Given the description of an element on the screen output the (x, y) to click on. 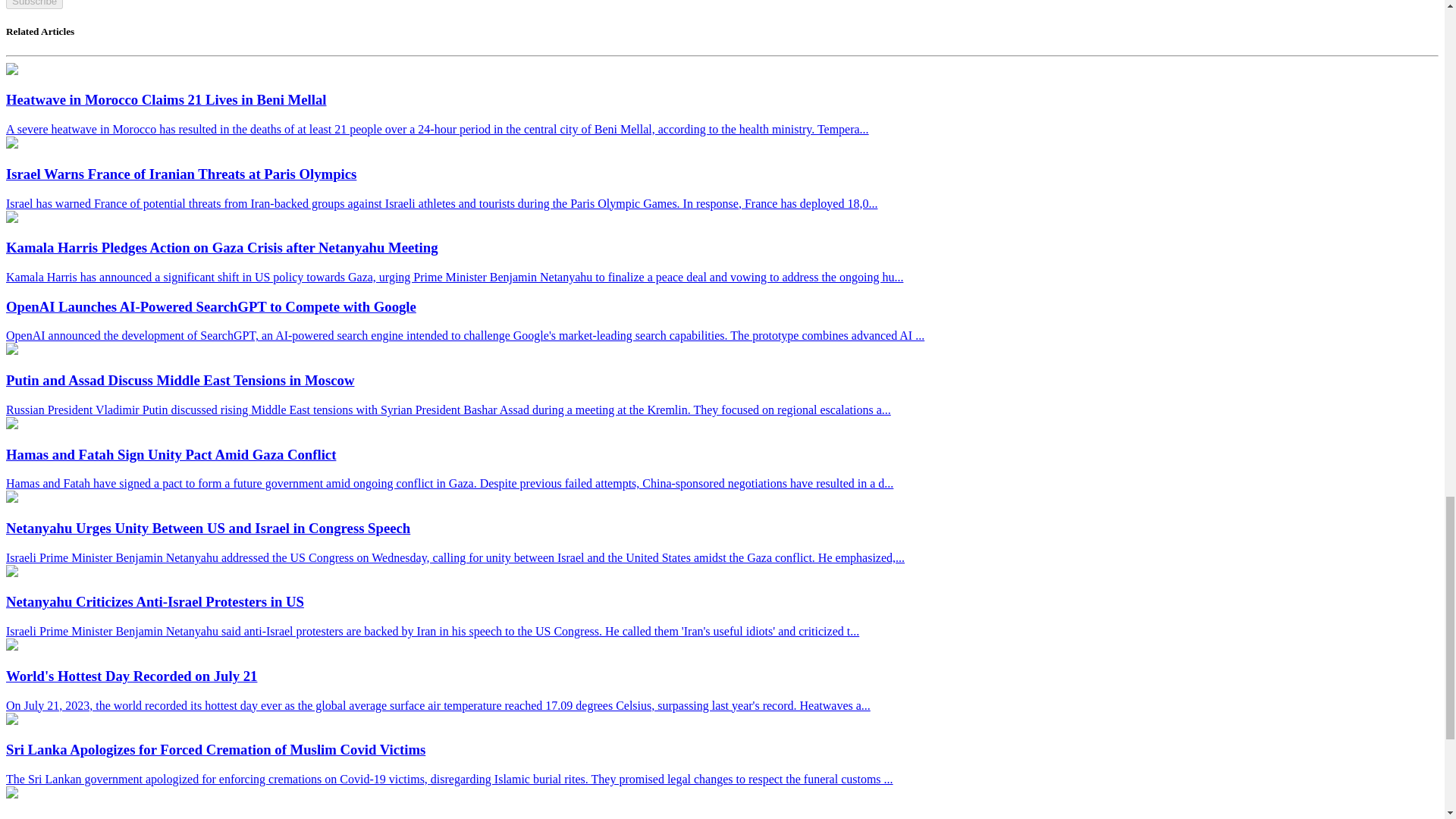
Israel Warns France of Iranian Threats at Paris Olympics (11, 144)
Hamas and Fatah Sign Unity Pact Amid Gaza Conflict (11, 424)
Hacking Vulnerabilities: Androids vs. iPhones (11, 793)
Putin and Assad Discuss Middle East Tensions in Moscow (11, 350)
Subscribe (33, 4)
World's Hottest Day Recorded on July 21 (11, 645)
Netanyahu Criticizes Anti-Israel Protesters in US (11, 572)
Heatwave in Morocco Claims 21 Lives in Beni Mellal (11, 70)
